Given the description of an element on the screen output the (x, y) to click on. 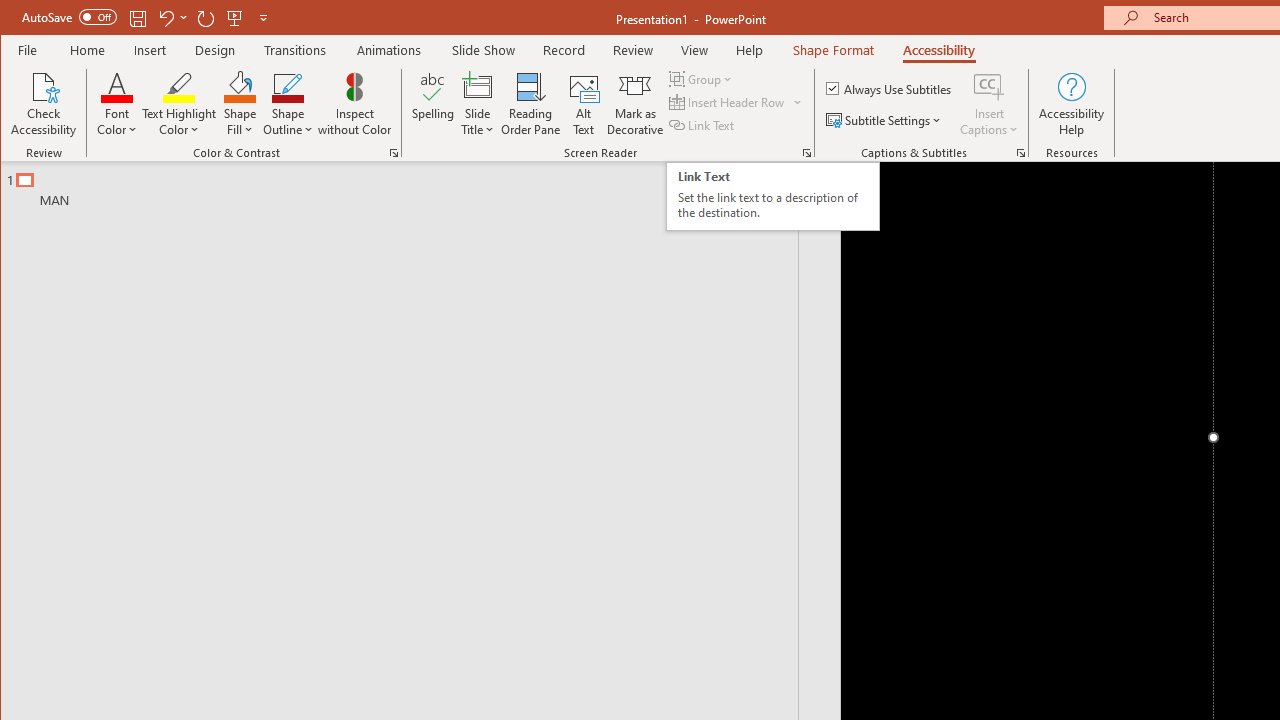
Group (701, 78)
Accessibility Help (1071, 104)
Insert Header Row (728, 101)
Screen Reader (806, 152)
Captions & Subtitles (1020, 152)
